Given the description of an element on the screen output the (x, y) to click on. 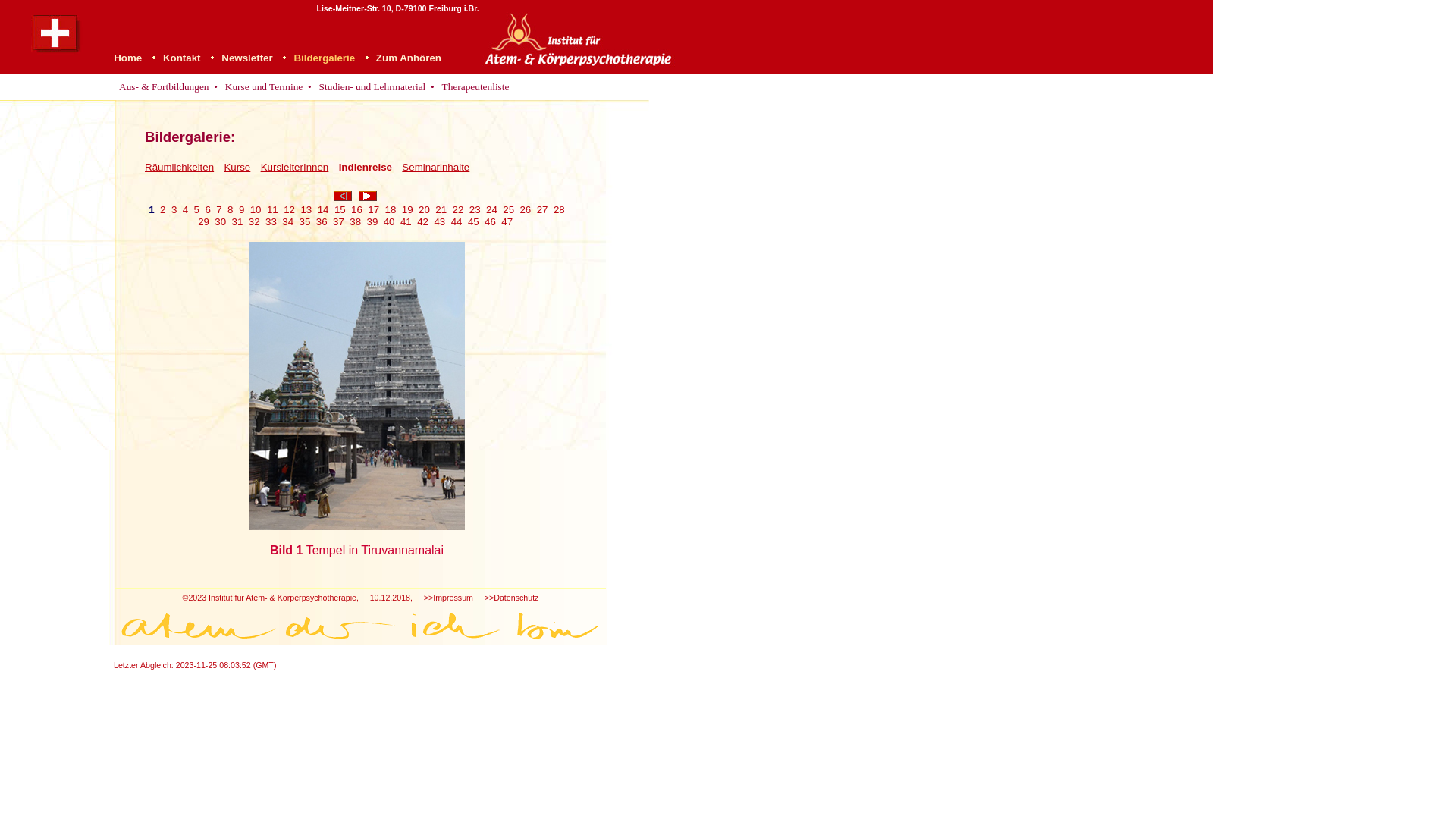
19 Element type: text (407, 209)
2 Element type: text (162, 209)
21 Element type: text (440, 209)
>>Datenschutz Element type: text (511, 597)
44 Element type: text (456, 221)
Seminarinhalte Element type: text (435, 166)
6 Element type: text (207, 209)
Newsletter Element type: text (246, 57)
24 Element type: text (491, 209)
4 Element type: text (185, 209)
26 Element type: text (524, 209)
30 Element type: text (219, 221)
16 Element type: text (356, 209)
14 Element type: text (323, 209)
42 Element type: text (422, 221)
7 Element type: text (218, 209)
12 Element type: text (288, 209)
32 Element type: text (254, 221)
Home Element type: text (127, 57)
5 Element type: text (196, 209)
23 Element type: text (474, 209)
33 Element type: text (270, 221)
8 Element type: text (229, 209)
47 Element type: text (506, 221)
39 Element type: text (371, 221)
15 Element type: text (339, 209)
20 Element type: text (423, 209)
41 Element type: text (405, 221)
38 Element type: text (354, 221)
Therapeutenliste Element type: text (475, 86)
KursleiterInnen Element type: text (294, 166)
10 Element type: text (255, 209)
3 Element type: text (173, 209)
11 Element type: text (272, 209)
46 Element type: text (489, 221)
36 Element type: text (321, 221)
Kurse Element type: text (236, 166)
43 Element type: text (439, 221)
22 Element type: text (458, 209)
28 Element type: text (558, 209)
34 Element type: text (287, 221)
40 Element type: text (389, 221)
31 Element type: text (237, 221)
18 Element type: text (390, 209)
13 Element type: text (305, 209)
9 Element type: text (241, 209)
Lise-Meitner-Str. 10, D-79100 Freiburg i.Br. Element type: text (397, 6)
Kontakt Element type: text (181, 57)
27 Element type: text (542, 209)
35 Element type: text (304, 221)
45 Element type: text (473, 221)
29 Element type: text (203, 221)
37 Element type: text (338, 221)
25 Element type: text (508, 209)
>>Impressum Element type: text (448, 597)
17 Element type: text (373, 209)
